Given the description of an element on the screen output the (x, y) to click on. 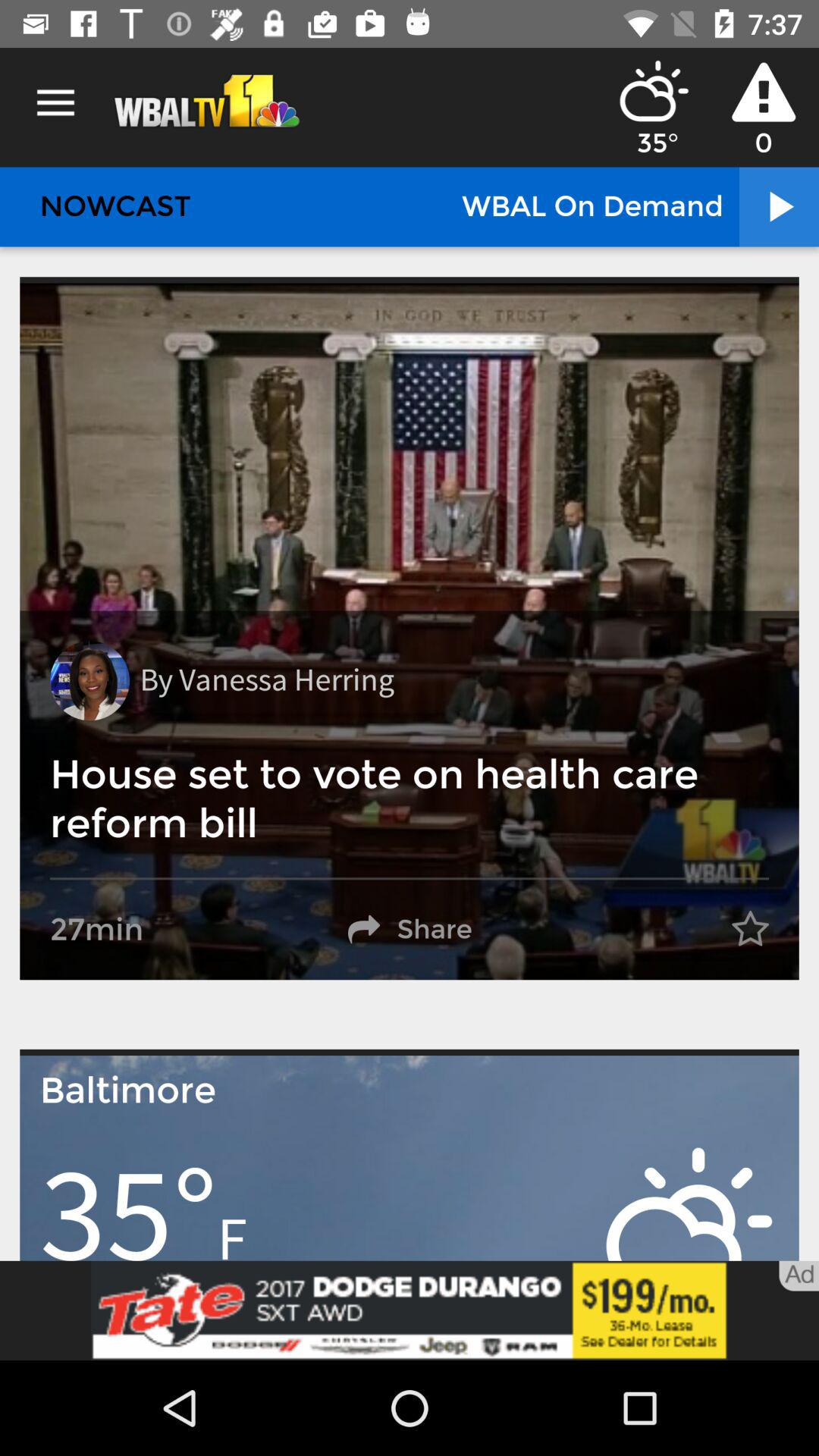
visit advertised site (409, 1310)
